Given the description of an element on the screen output the (x, y) to click on. 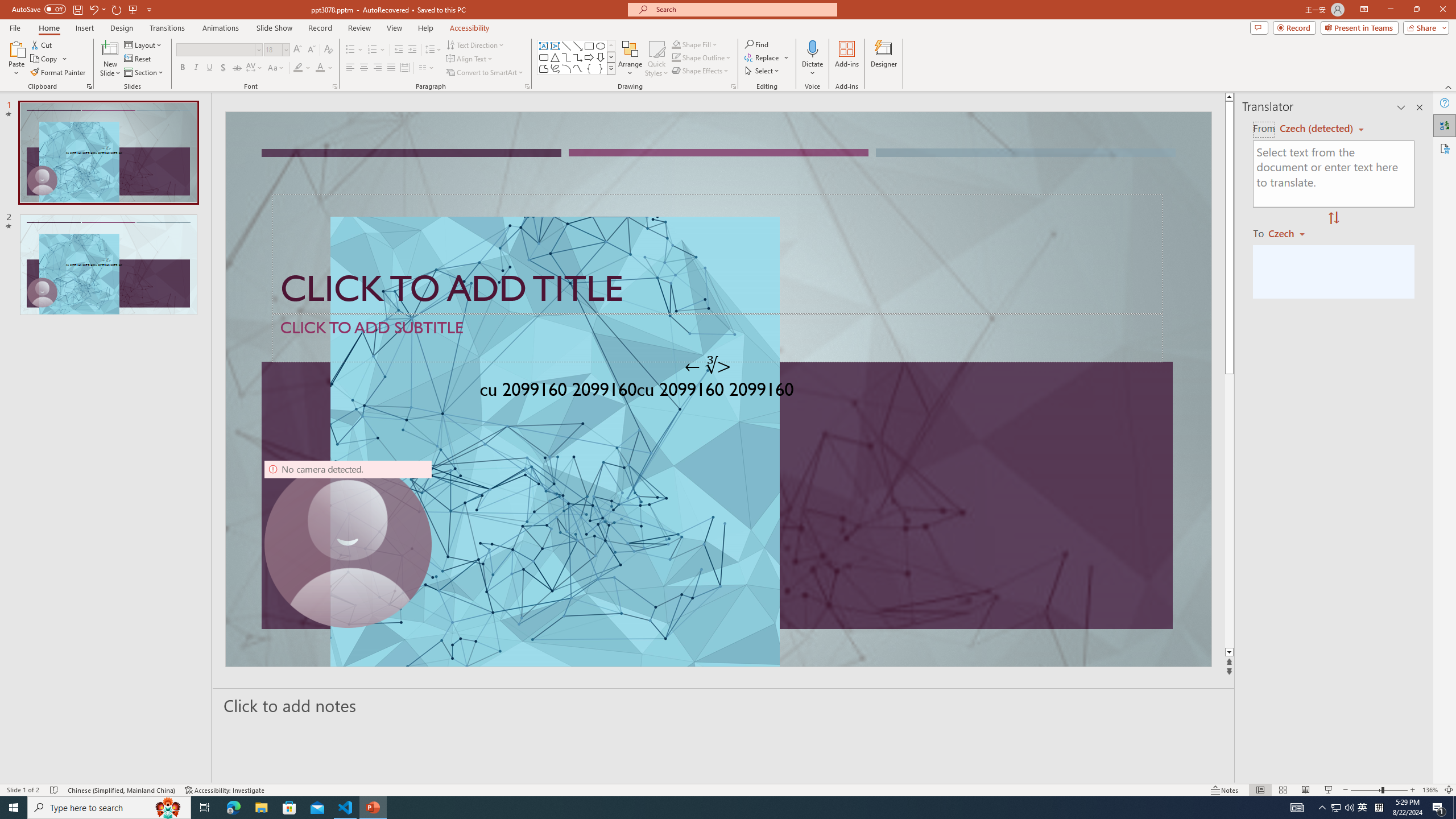
Dictate (812, 58)
Shape Effects (700, 69)
Replace... (767, 56)
Oval (600, 45)
Zoom 136% (1430, 790)
Paragraph... (526, 85)
Shape Fill (694, 44)
Increase Font Size (297, 49)
Close pane (1419, 107)
Line Arrow (577, 45)
Task Pane Options (1400, 107)
Copy (49, 58)
